Given the description of an element on the screen output the (x, y) to click on. 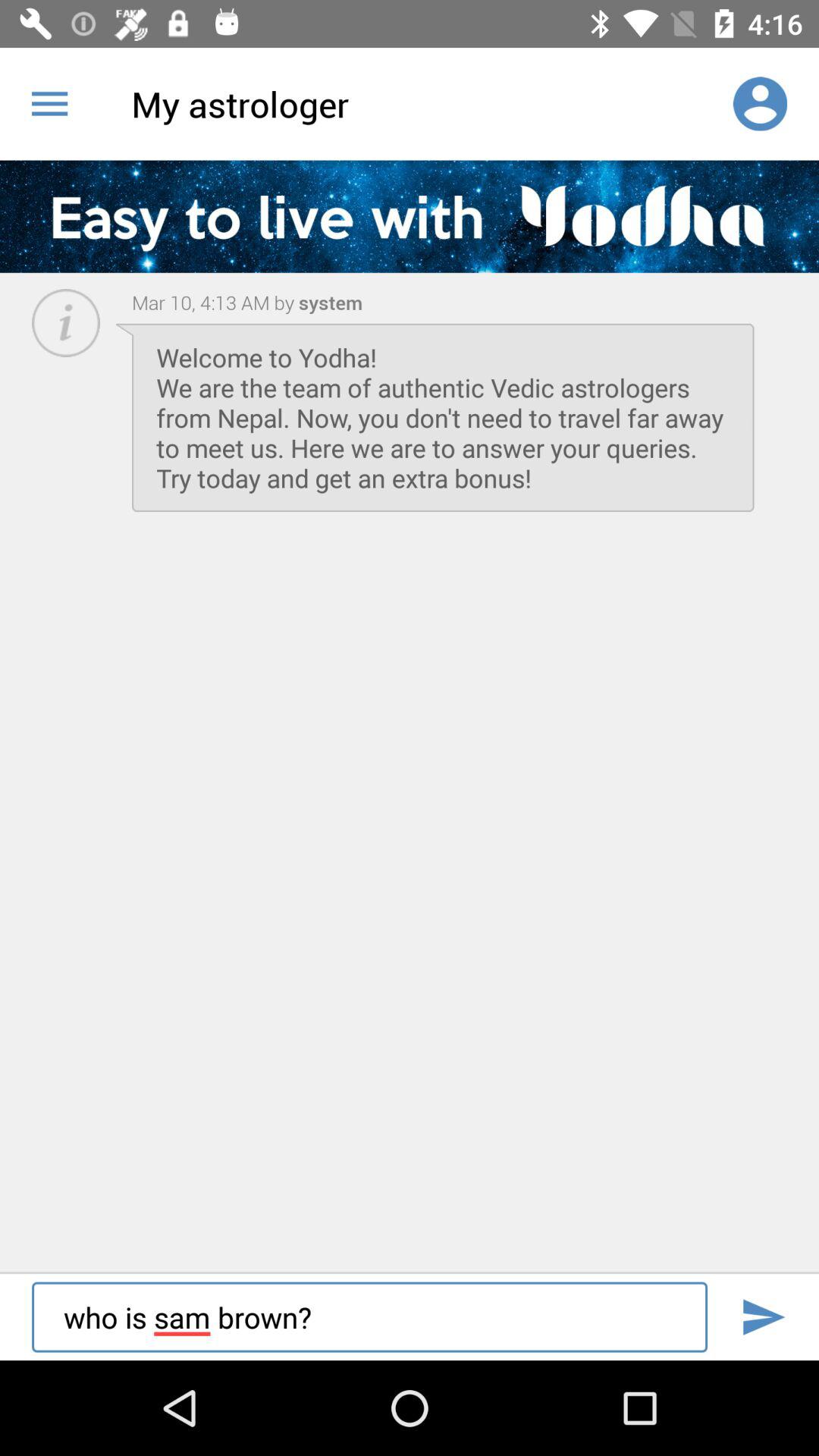
send message (763, 1317)
